Given the description of an element on the screen output the (x, y) to click on. 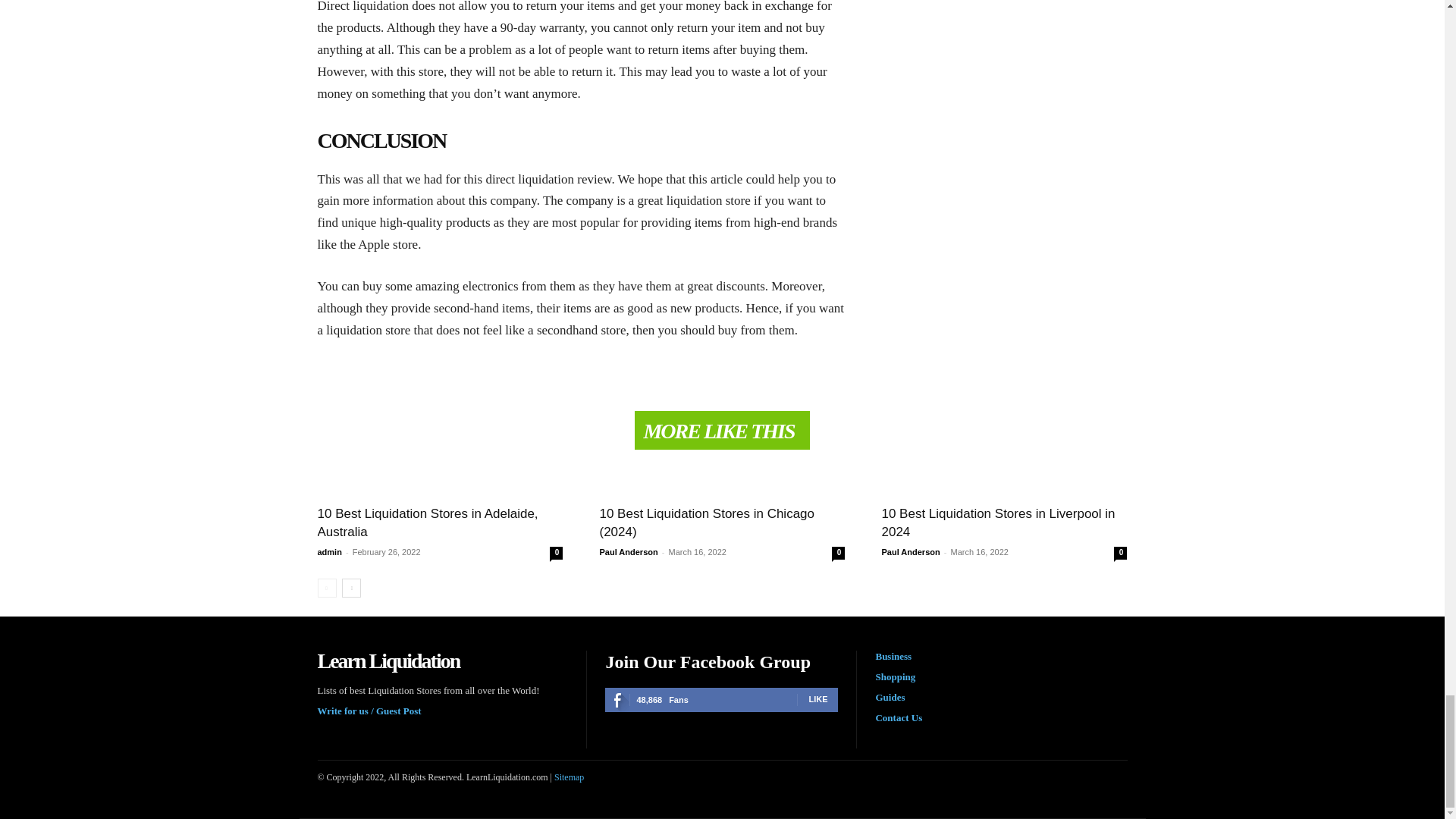
10 Best Liquidation Stores in Adelaide, Australia (427, 522)
